Given the description of an element on the screen output the (x, y) to click on. 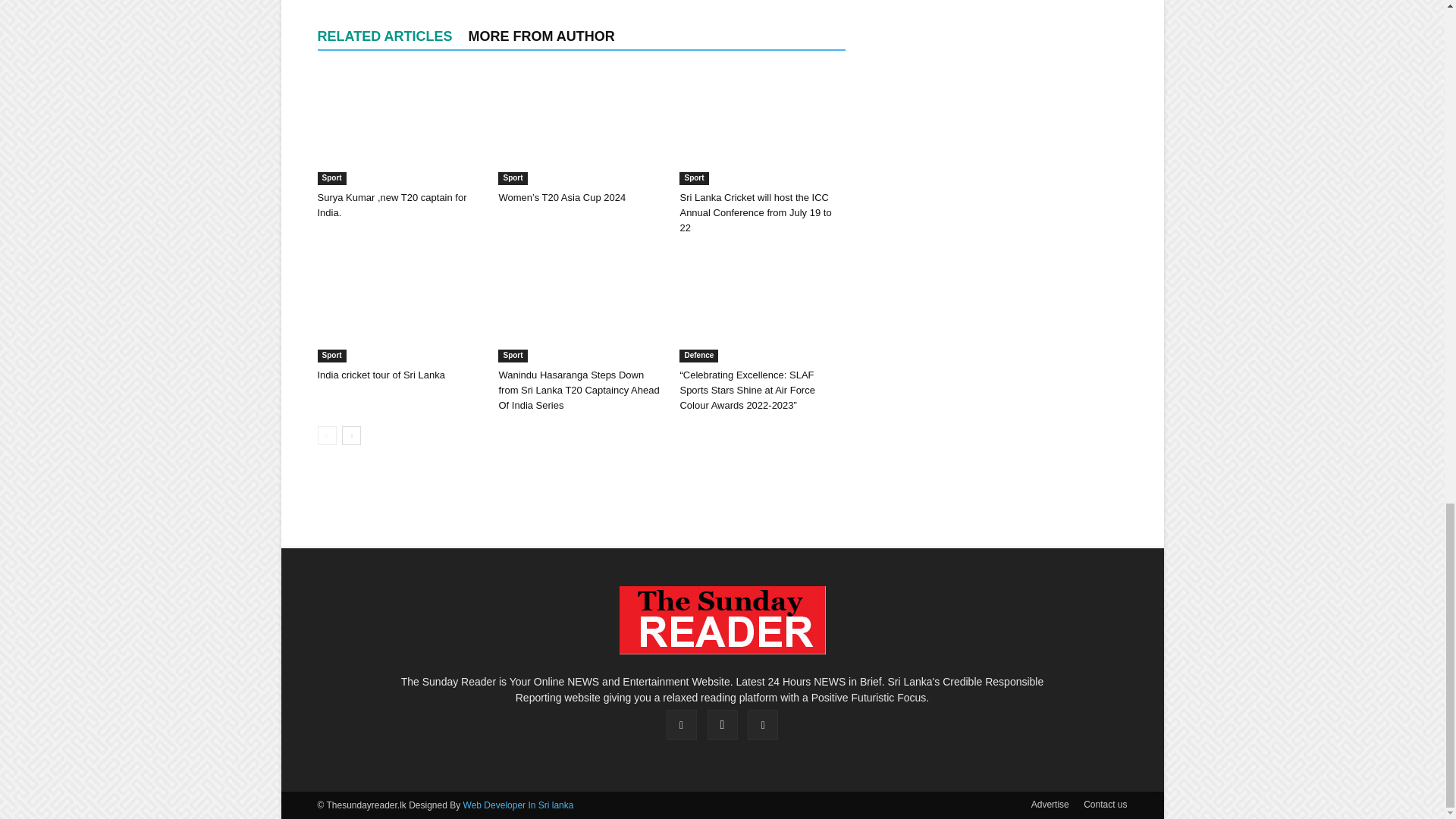
India cricket tour of Sri Lanka (399, 305)
Surya Kumar ,new T20 captain for India. (399, 128)
India cricket tour of Sri Lanka (380, 374)
Surya Kumar ,new T20 captain for India. (391, 204)
